Given the description of an element on the screen output the (x, y) to click on. 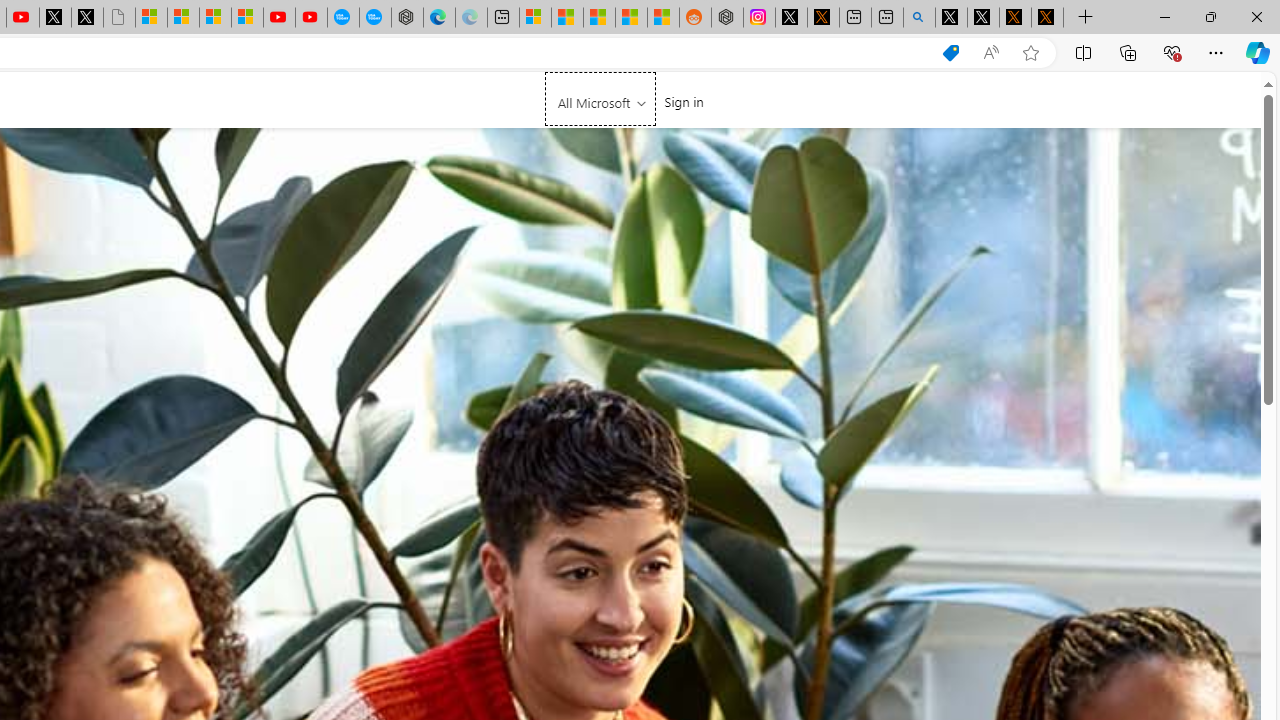
Gloom - YouTube (279, 17)
The most popular Google 'how to' searches (374, 17)
YouTube Kids - An App Created for Kids to Explore Content (310, 17)
GitHub (@github) / X (983, 17)
help.x.com | 524: A timeout occurred (822, 17)
X Privacy Policy (1047, 17)
Shanghai, China Weather trends | Microsoft Weather (663, 17)
Nordace - Nordace has arrived Hong Kong (407, 17)
